Given the description of an element on the screen output the (x, y) to click on. 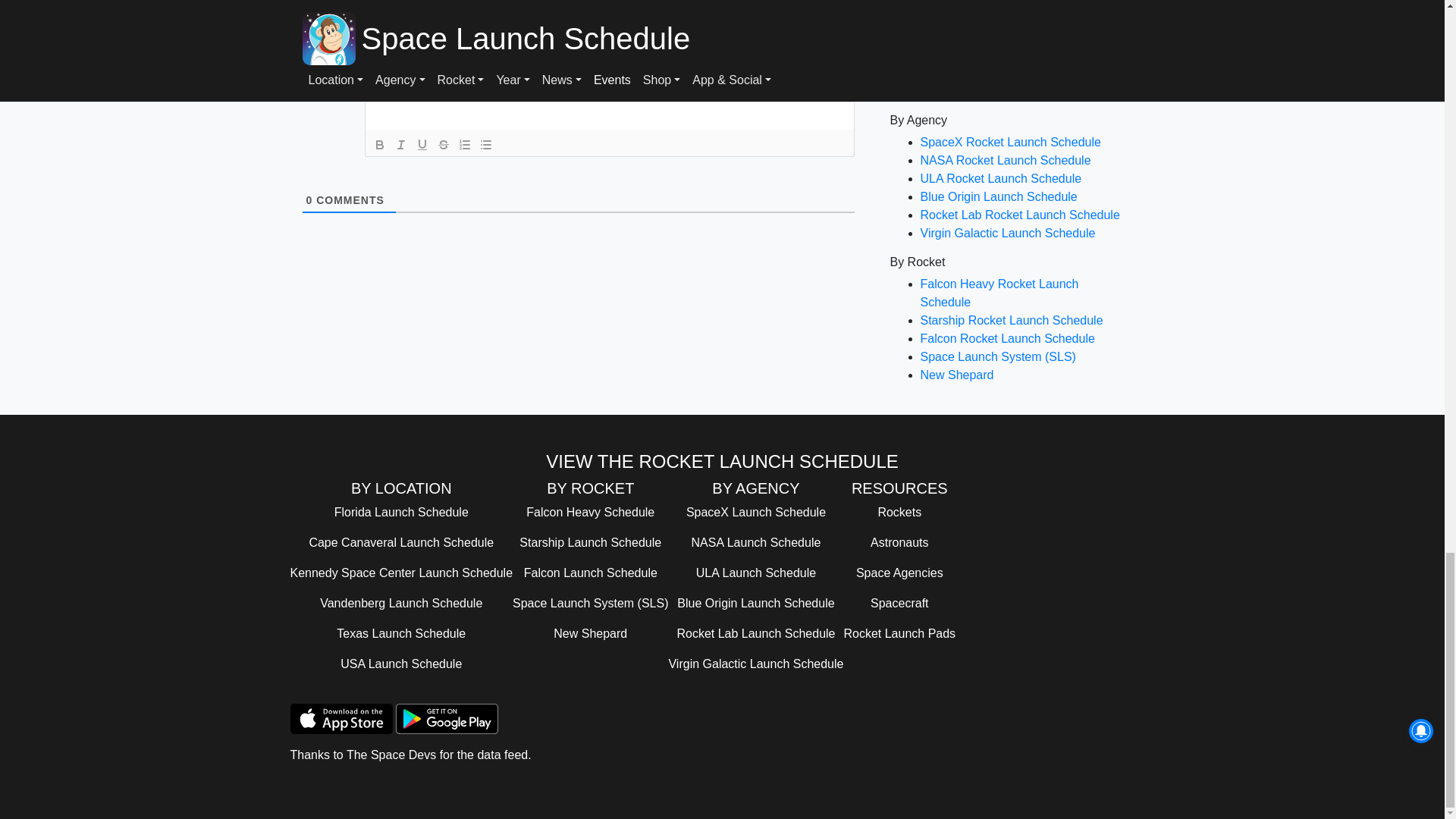
Italic (400, 144)
Bold (379, 144)
Unordered List (485, 144)
Strike (442, 144)
Ordered List (463, 144)
Underline (421, 144)
